Given the description of an element on the screen output the (x, y) to click on. 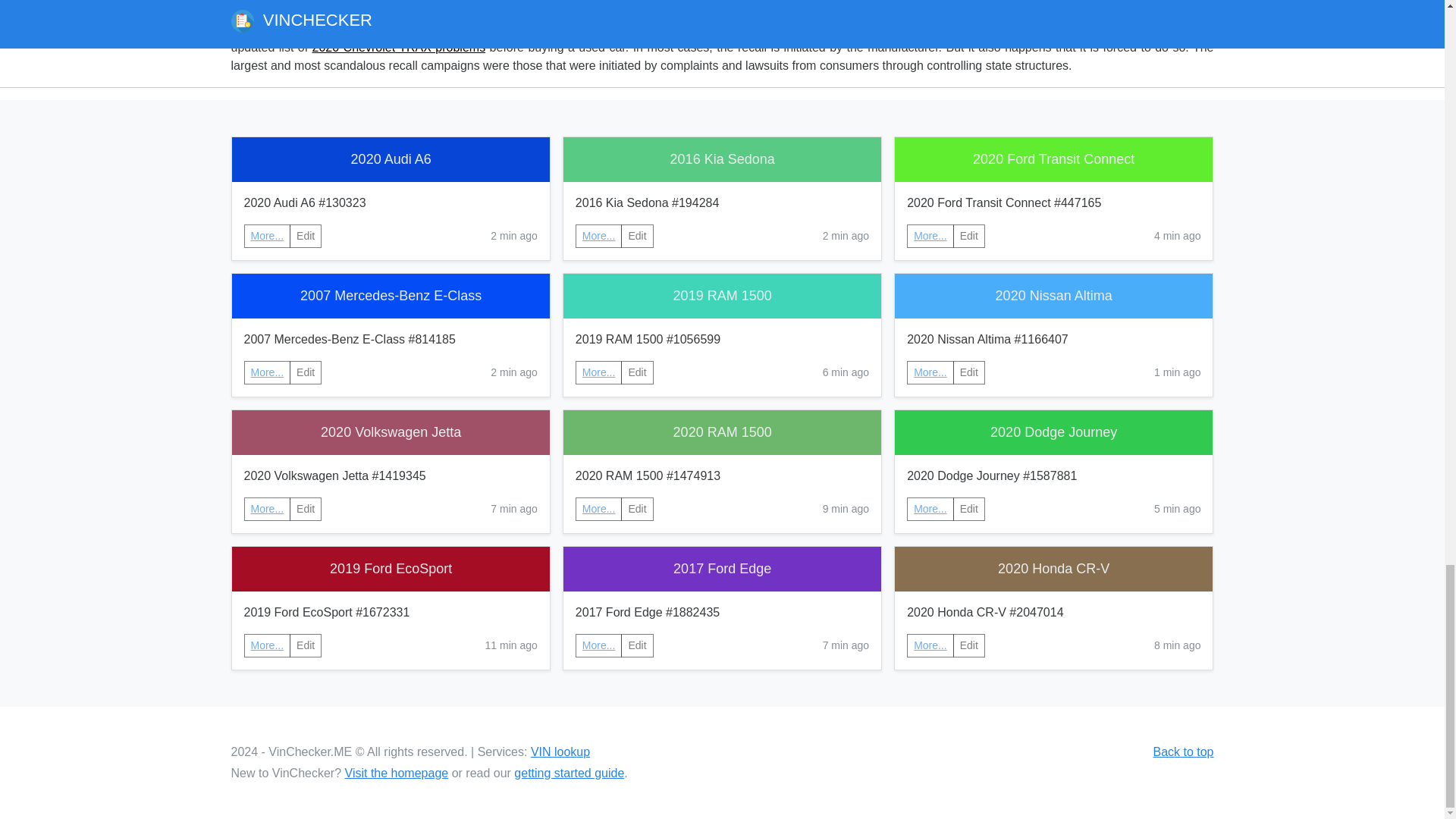
More... (598, 235)
More... (598, 372)
More... (266, 235)
More... (930, 508)
2020 Volkswagen Jetta (390, 432)
2020 Chevrolet TRAX problems (399, 47)
2020 Chevrolet TRAX problems (399, 47)
2020 RAM 1500 (721, 432)
More... (599, 372)
More... (930, 508)
